Given the description of an element on the screen output the (x, y) to click on. 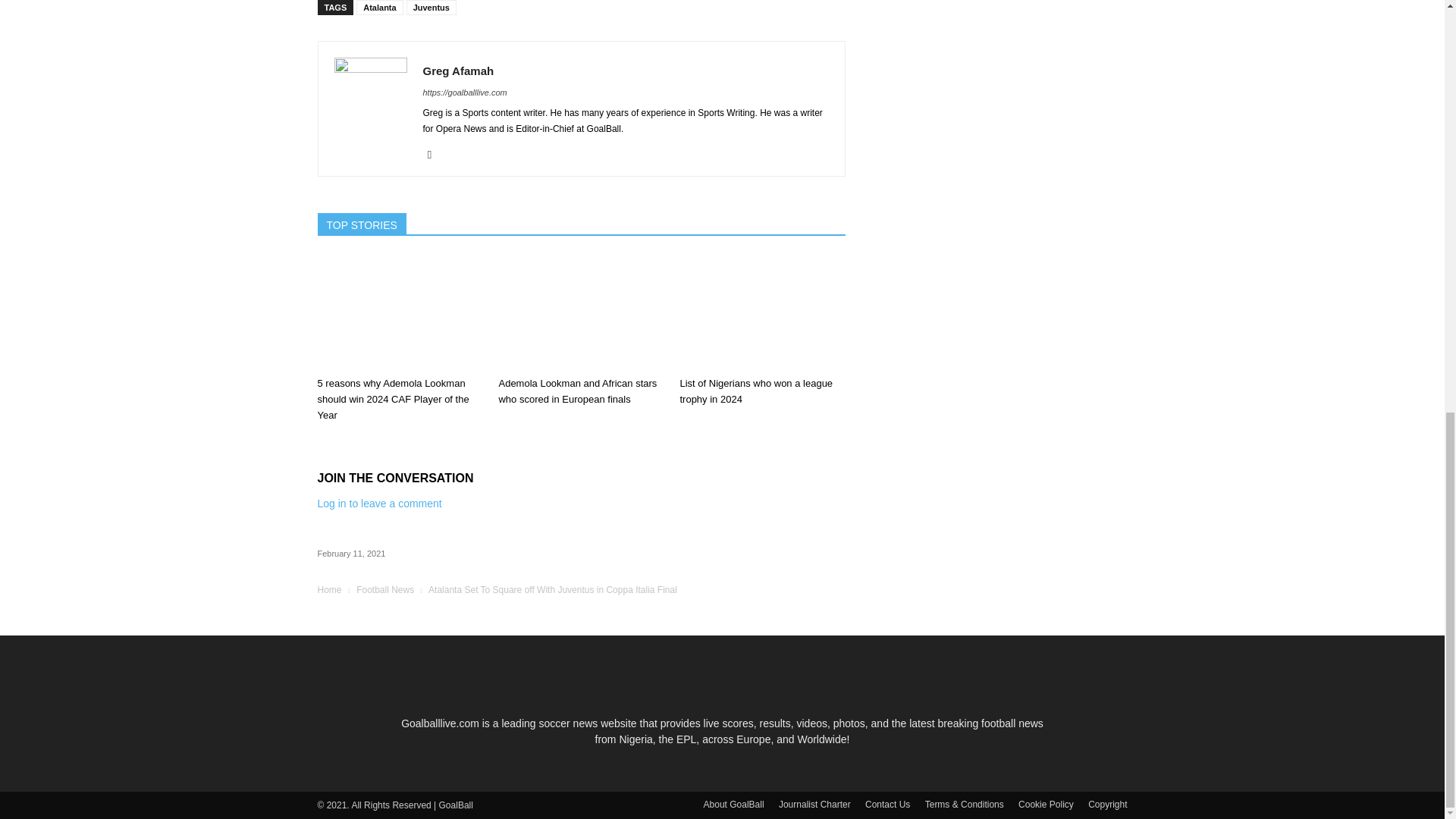
Twitter (435, 154)
List of Nigerians who won a league trophy in 2024 (755, 390)
List of Nigerians who won a league trophy in 2024 (761, 313)
